Given the description of an element on the screen output the (x, y) to click on. 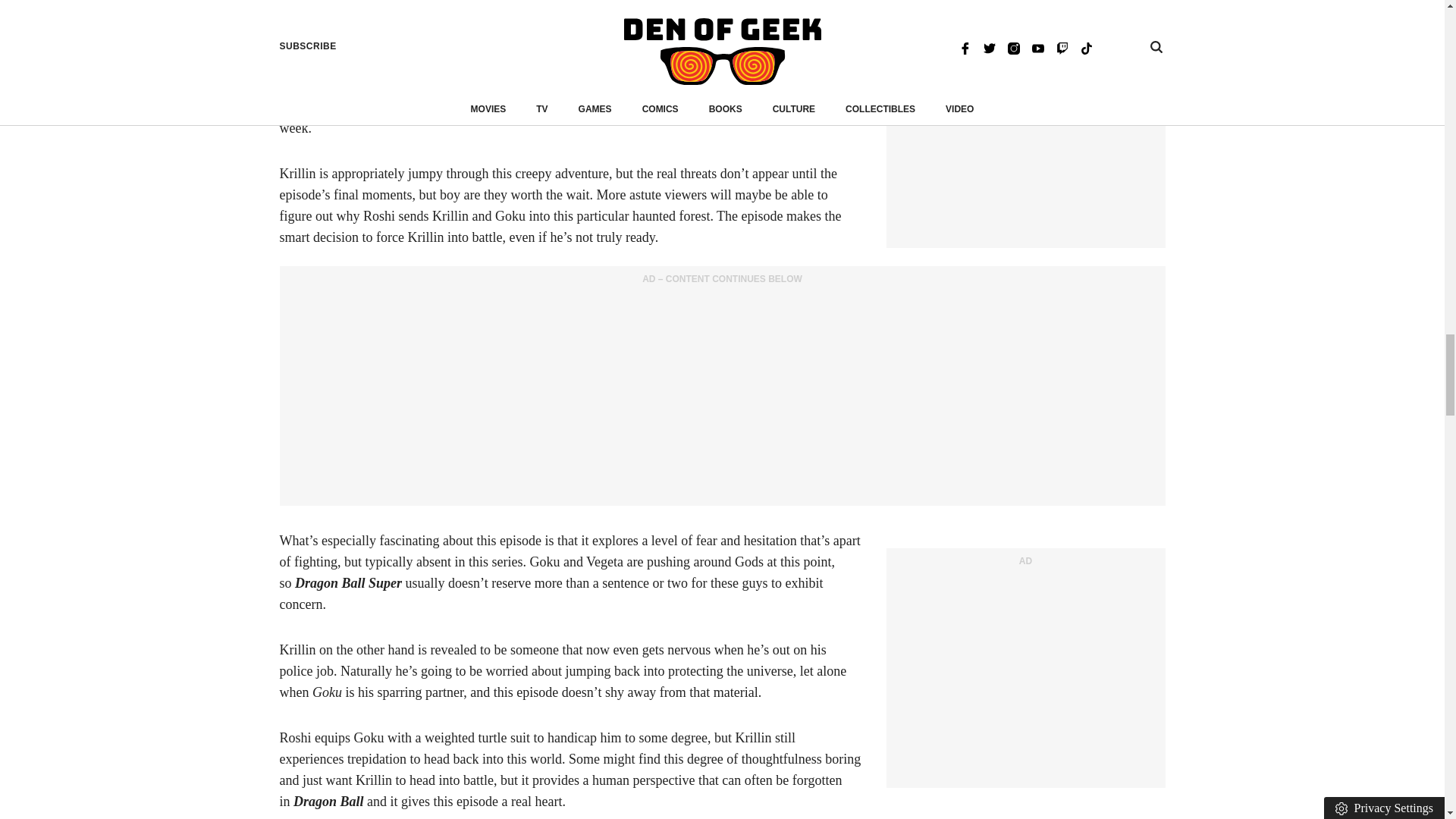
marijuana (329, 106)
